Given the description of an element on the screen output the (x, y) to click on. 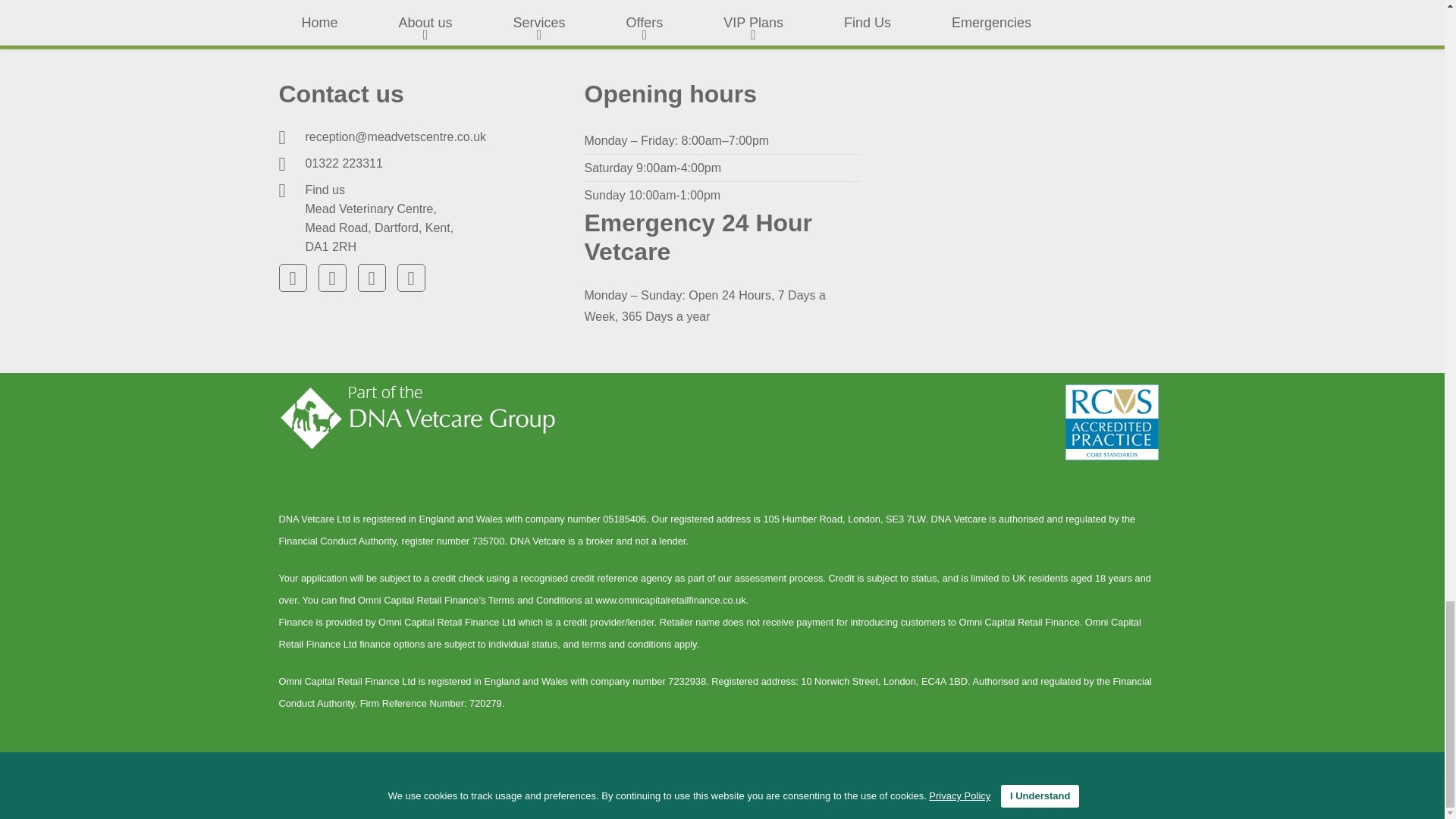
Twitter (332, 277)
Register now (1045, 11)
YouTube (371, 277)
01322 223311 (342, 163)
Instagram (411, 277)
Facebook (293, 277)
